Given the description of an element on the screen output the (x, y) to click on. 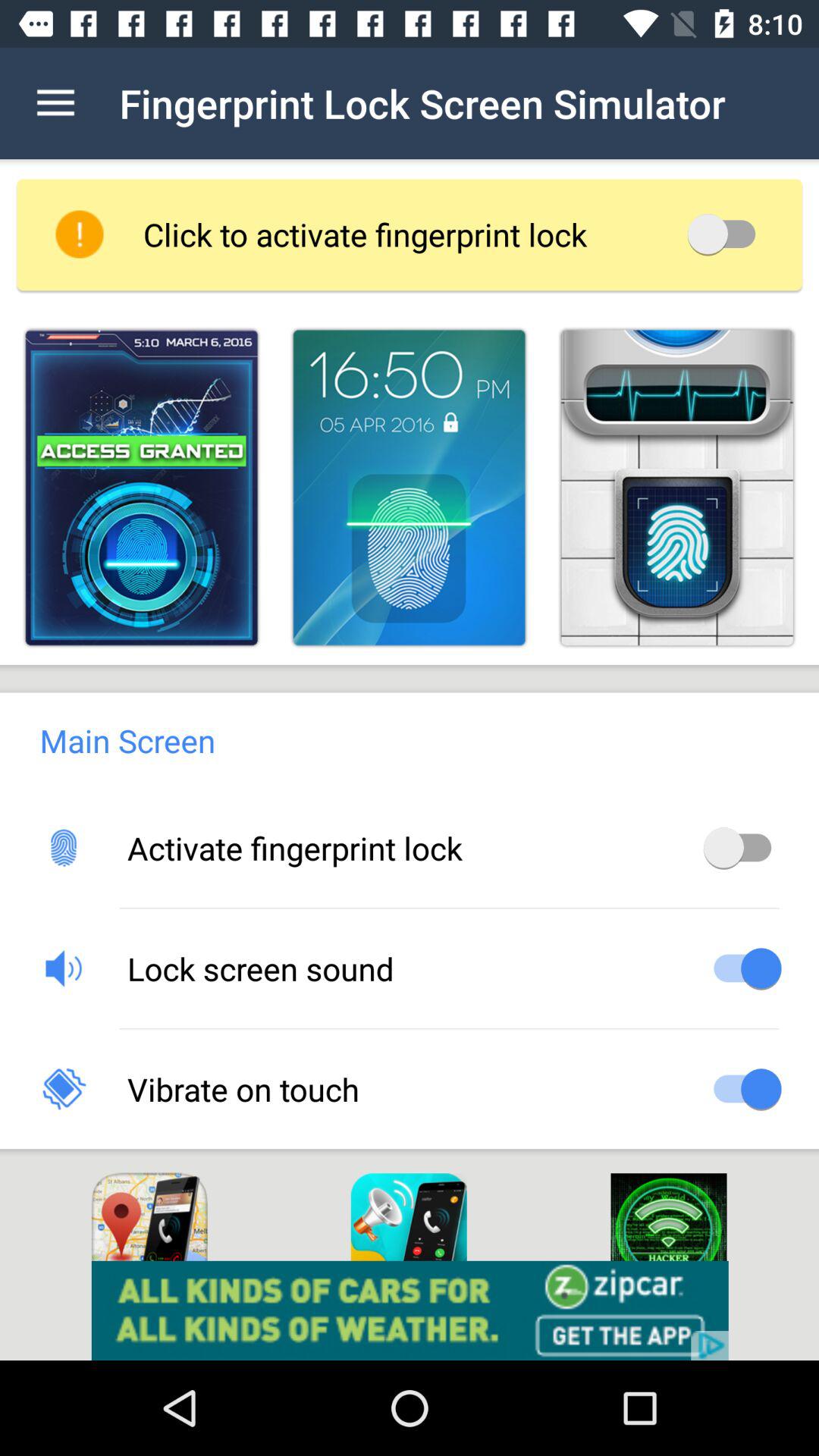
install the zipcar app (409, 1310)
